Given the description of an element on the screen output the (x, y) to click on. 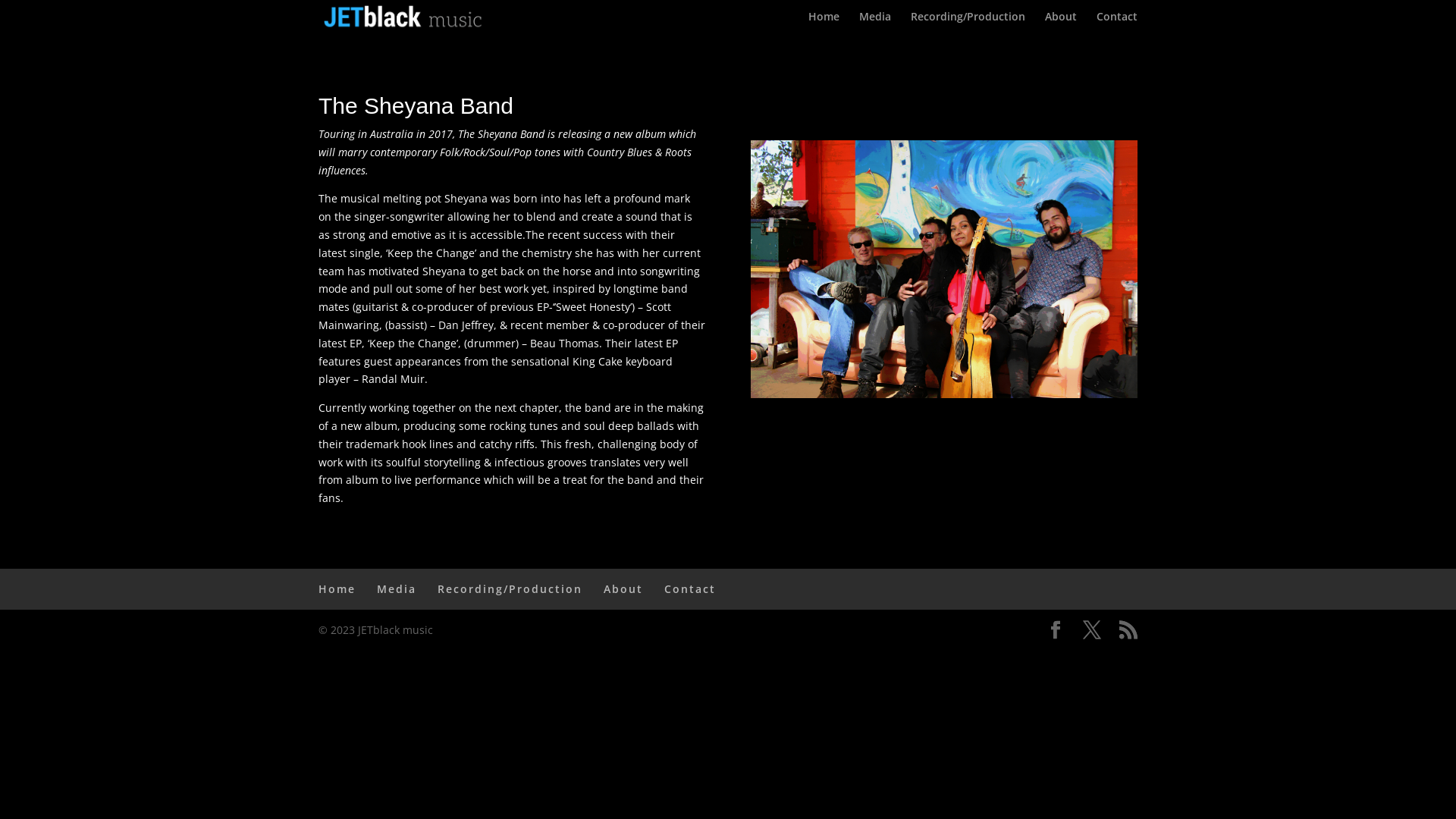
Home Element type: text (823, 22)
Recording/Production Element type: text (967, 22)
Contact Element type: text (689, 588)
Home Element type: text (336, 588)
Recording/Production Element type: text (509, 588)
Media Element type: text (396, 588)
Contact Element type: text (1116, 22)
Media Element type: text (875, 22)
About Element type: text (1060, 22)
About Element type: text (623, 588)
